Given the description of an element on the screen output the (x, y) to click on. 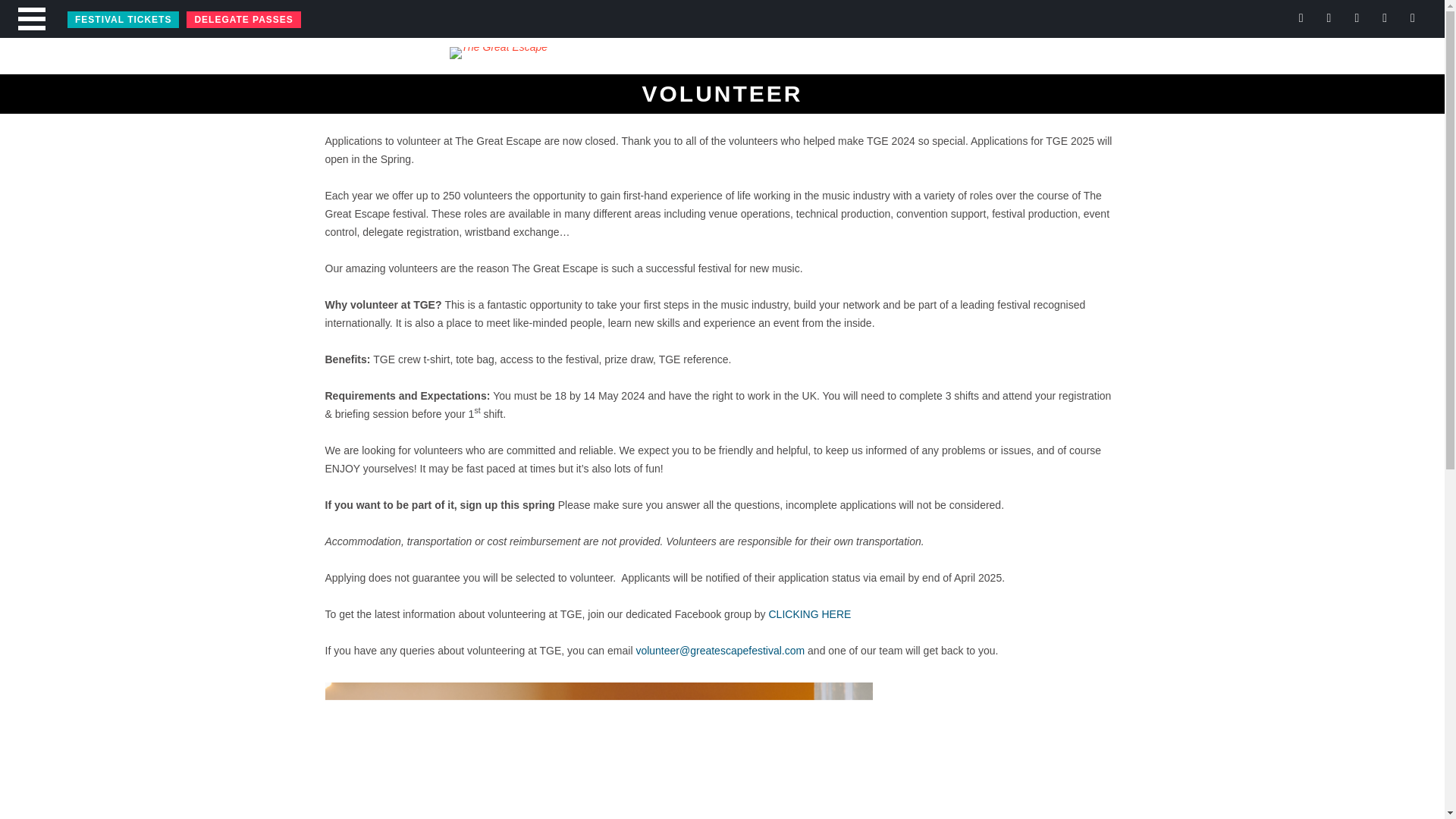
DELEGATE PASSES (242, 19)
FESTIVAL TICKETS (122, 19)
The Great Escape (721, 60)
